Given the description of an element on the screen output the (x, y) to click on. 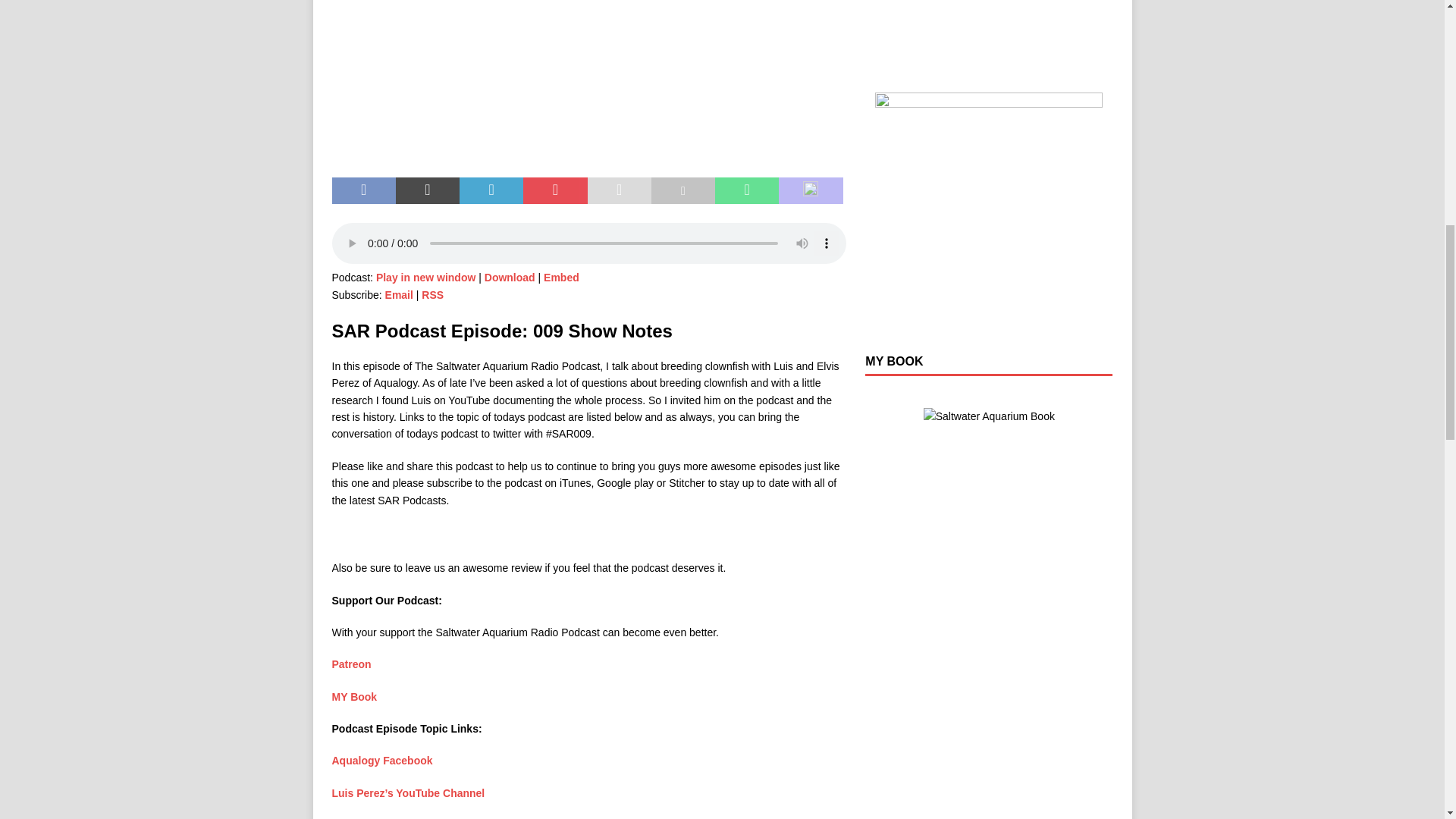
Share on Whatsapp (746, 190)
MY Book (354, 696)
Print this article (682, 190)
Pin This Post (554, 190)
Share on LinkedIn (491, 190)
Email (399, 295)
Download (509, 277)
Embed (561, 277)
Share On Mastodon (810, 190)
RSS (433, 295)
